Given the description of an element on the screen output the (x, y) to click on. 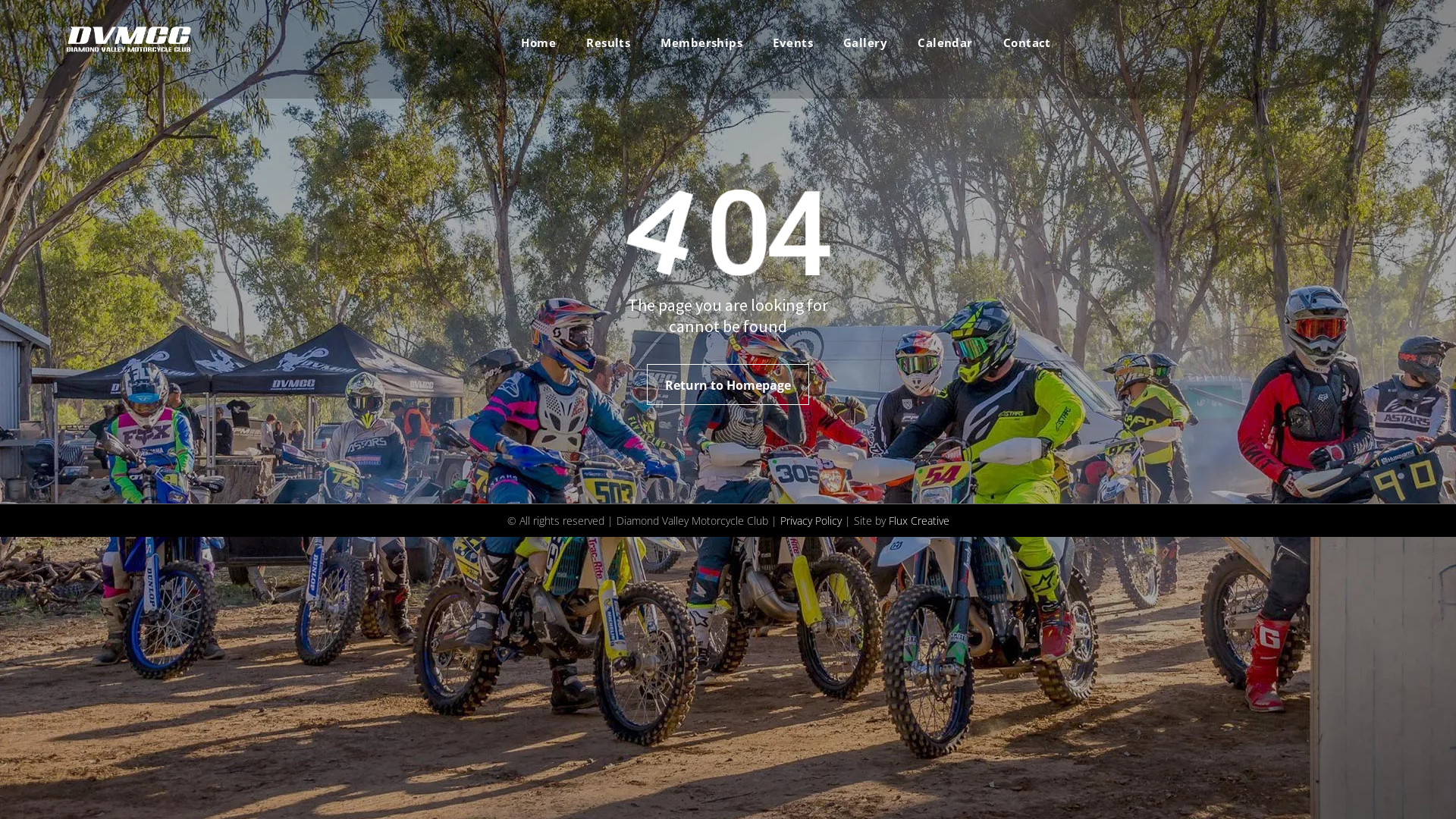
Privacy Policy Element type: text (809, 520)
Return to Homepage Element type: text (727, 384)
Contact Element type: text (1027, 42)
Gallery Element type: text (865, 42)
Calendar Element type: text (945, 42)
Flux Creative Element type: text (918, 520)
Home Element type: text (538, 42)
Memberships Element type: text (701, 42)
Events Element type: text (792, 42)
Results Element type: text (608, 42)
